Given the description of an element on the screen output the (x, y) to click on. 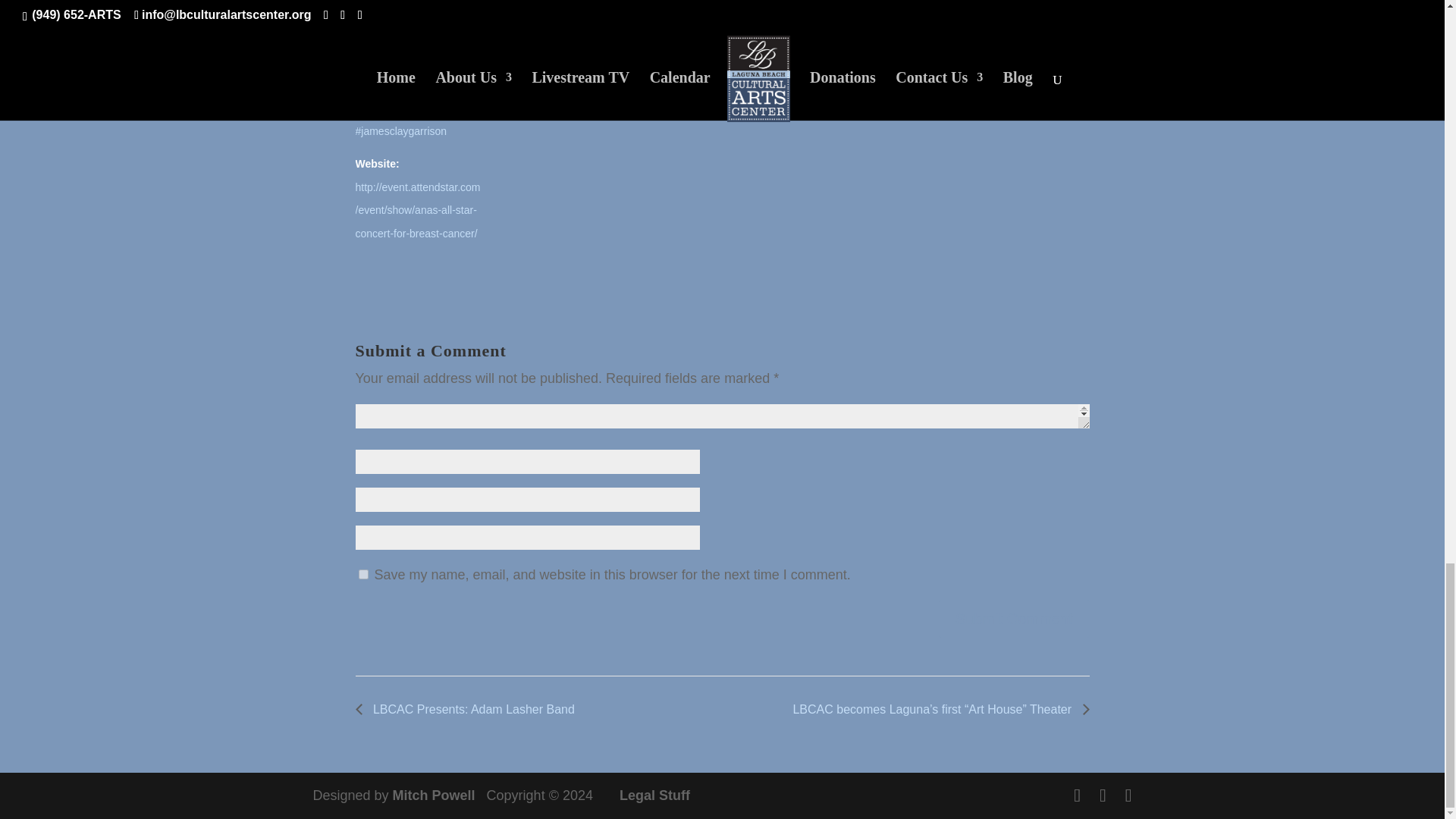
mitchpowell.com (436, 795)
Fundraiser (379, 51)
legal stuff (655, 795)
yes (363, 574)
Submit Comment (1014, 618)
